Given the description of an element on the screen output the (x, y) to click on. 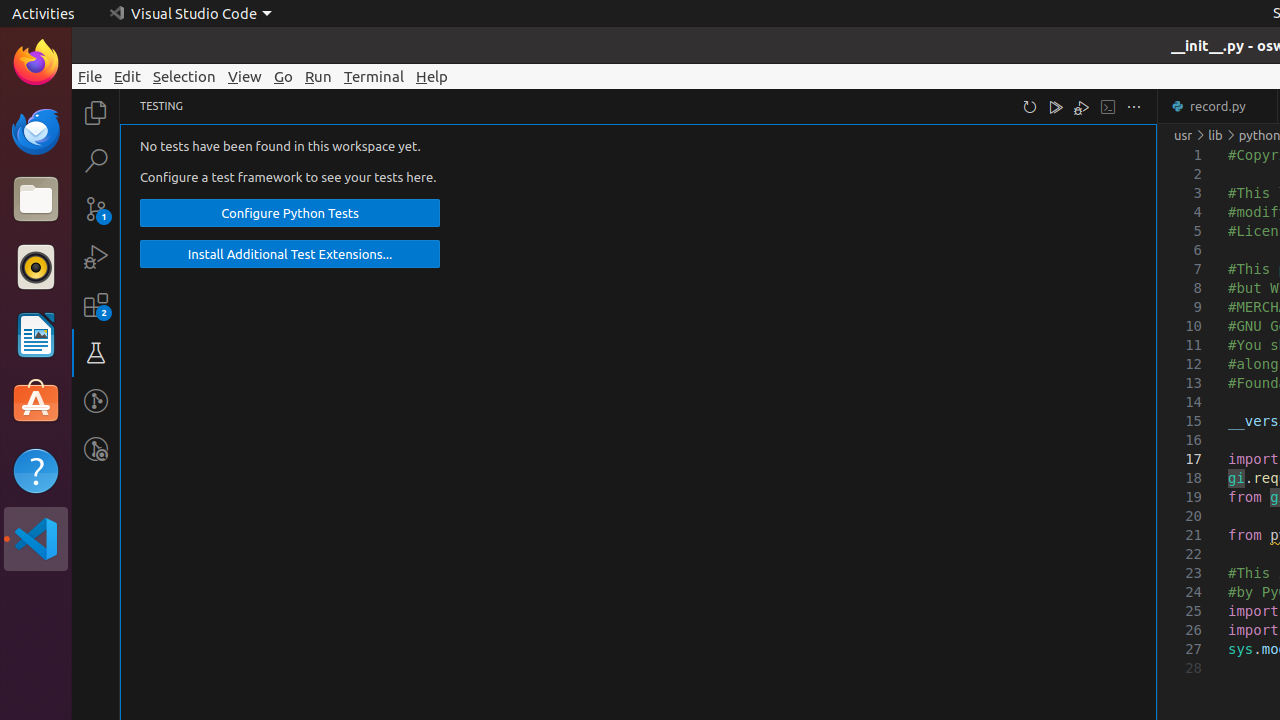
File Element type: push-button (90, 76)
View Element type: push-button (245, 76)
